Given the description of an element on the screen output the (x, y) to click on. 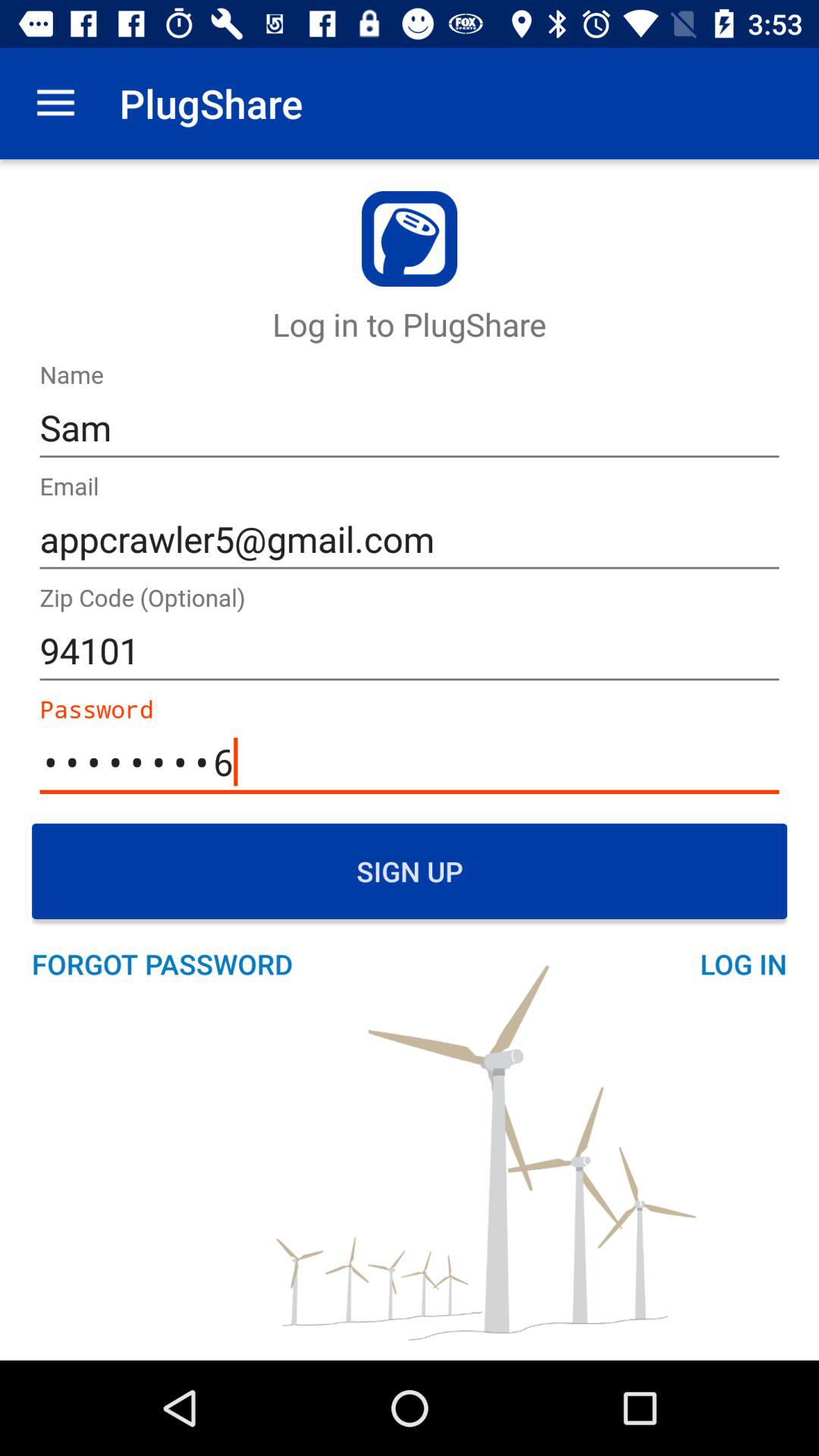
open icon above 94101 item (409, 539)
